Given the description of an element on the screen output the (x, y) to click on. 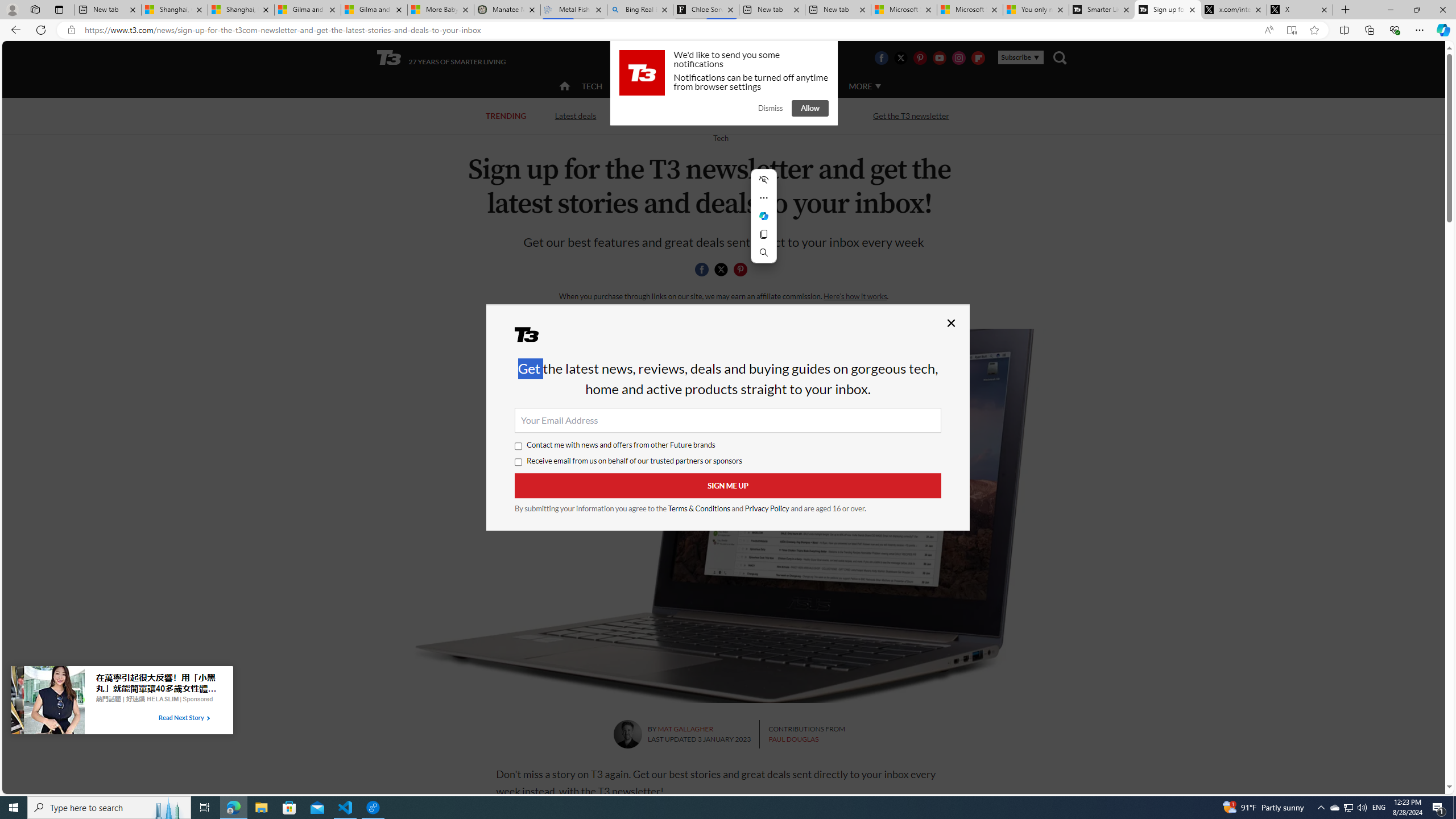
Add this page to favorites (Ctrl+D) (1314, 29)
Smarter Living | T3 (1102, 9)
Latest deals (575, 115)
Personal Profile (12, 9)
Shanghai, China weather forecast | Microsoft Weather (240, 9)
New tab (838, 9)
t3.com Logo (641, 72)
Share this page on Twitter (720, 269)
Contact me with news and offers from other Future brands (518, 446)
Tab actions menu (58, 9)
Collections (1369, 29)
Restore (1416, 9)
Ask Copilot (763, 216)
Terms & Conditions (699, 508)
